Given the description of an element on the screen output the (x, y) to click on. 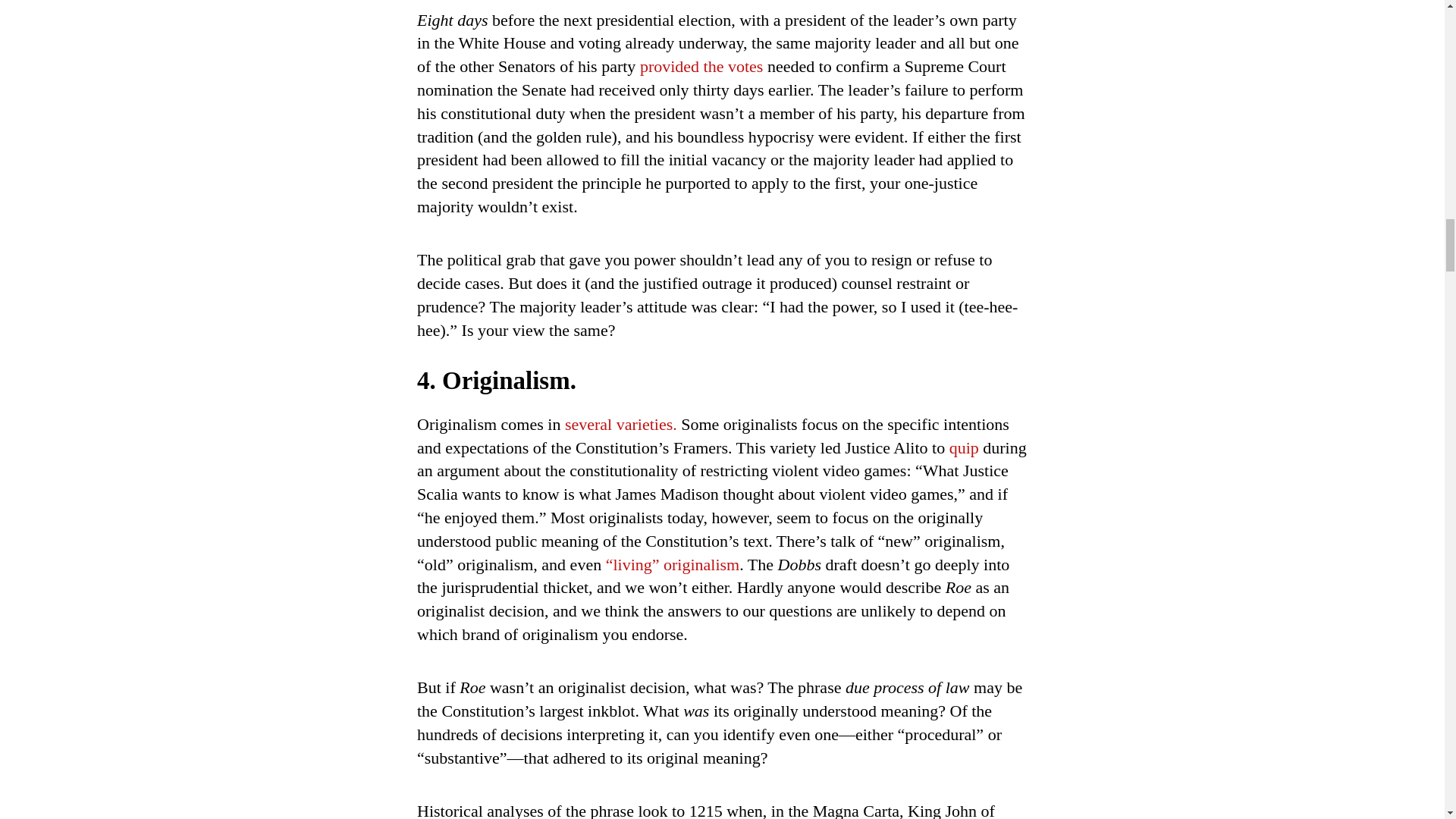
provided the votes (701, 66)
several varieties. (620, 424)
quip (963, 447)
